Given the description of an element on the screen output the (x, y) to click on. 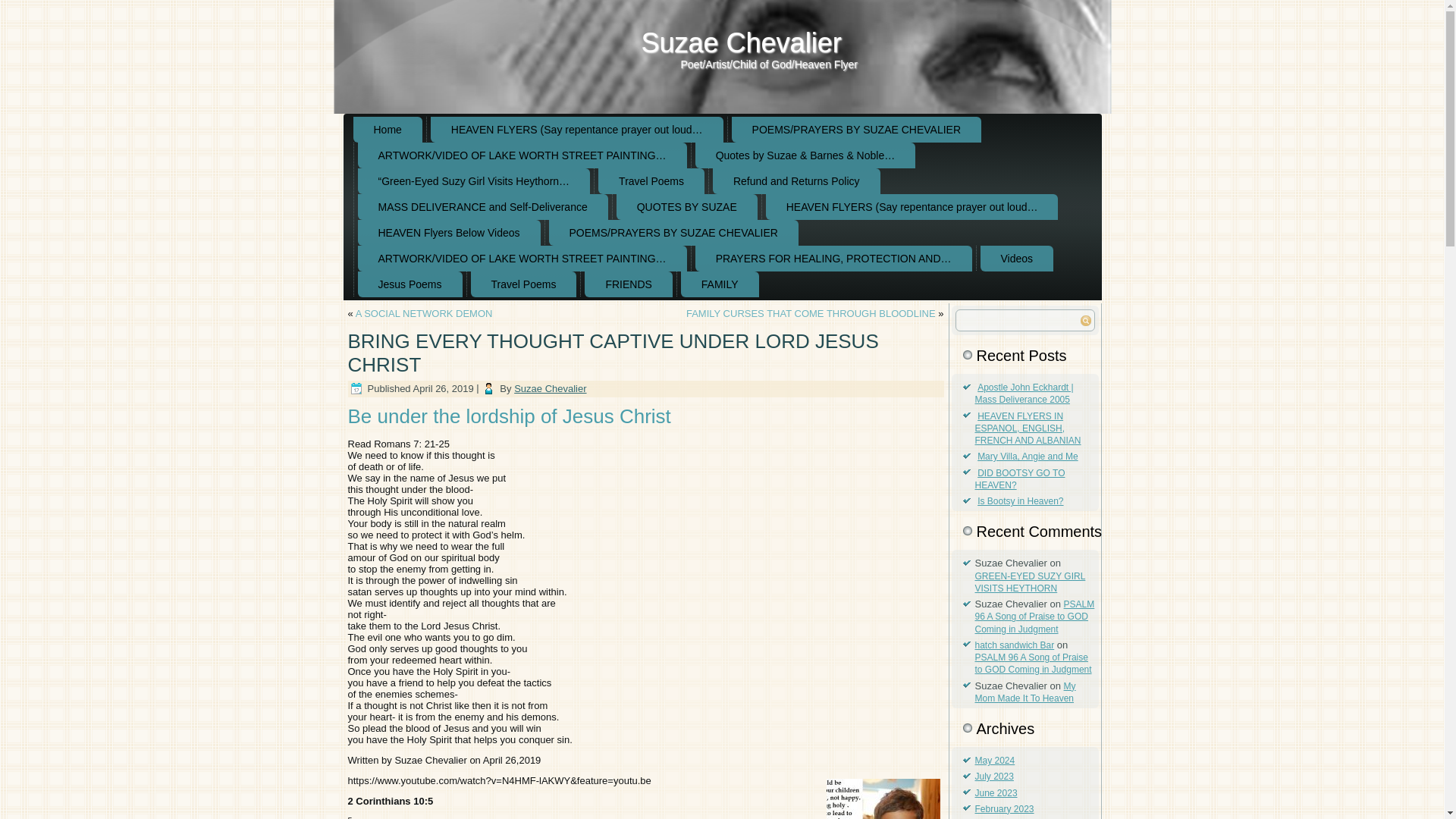
MASS DELIVERANCE and Self-Deliverance (483, 207)
Home (387, 129)
Suzae Chevalier (741, 42)
Refund and Returns Policy (796, 181)
QUOTES BY SUZAE (686, 207)
HEAVEN Flyers Below Videos (449, 232)
Home (387, 129)
Travel Poems (651, 181)
Videos (1016, 258)
